Given the description of an element on the screen output the (x, y) to click on. 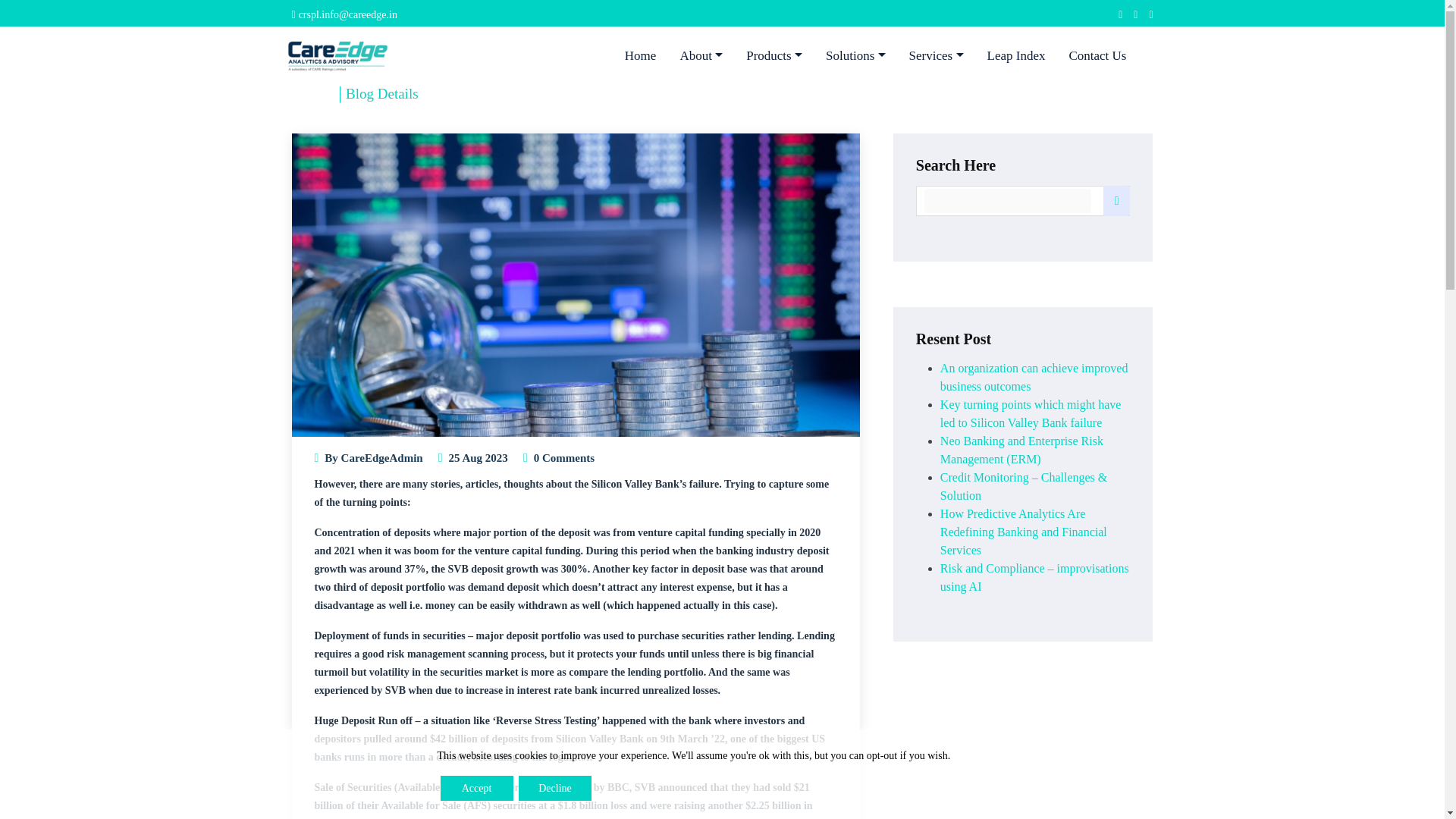
Services (935, 56)
25 Aug 2023 (478, 457)
Leap Index (1016, 56)
Home (310, 92)
About (700, 56)
Contact Us (1097, 56)
Products (773, 56)
Home (640, 56)
By CareEdgeAdmin (373, 457)
Solutions (855, 56)
